Given the description of an element on the screen output the (x, y) to click on. 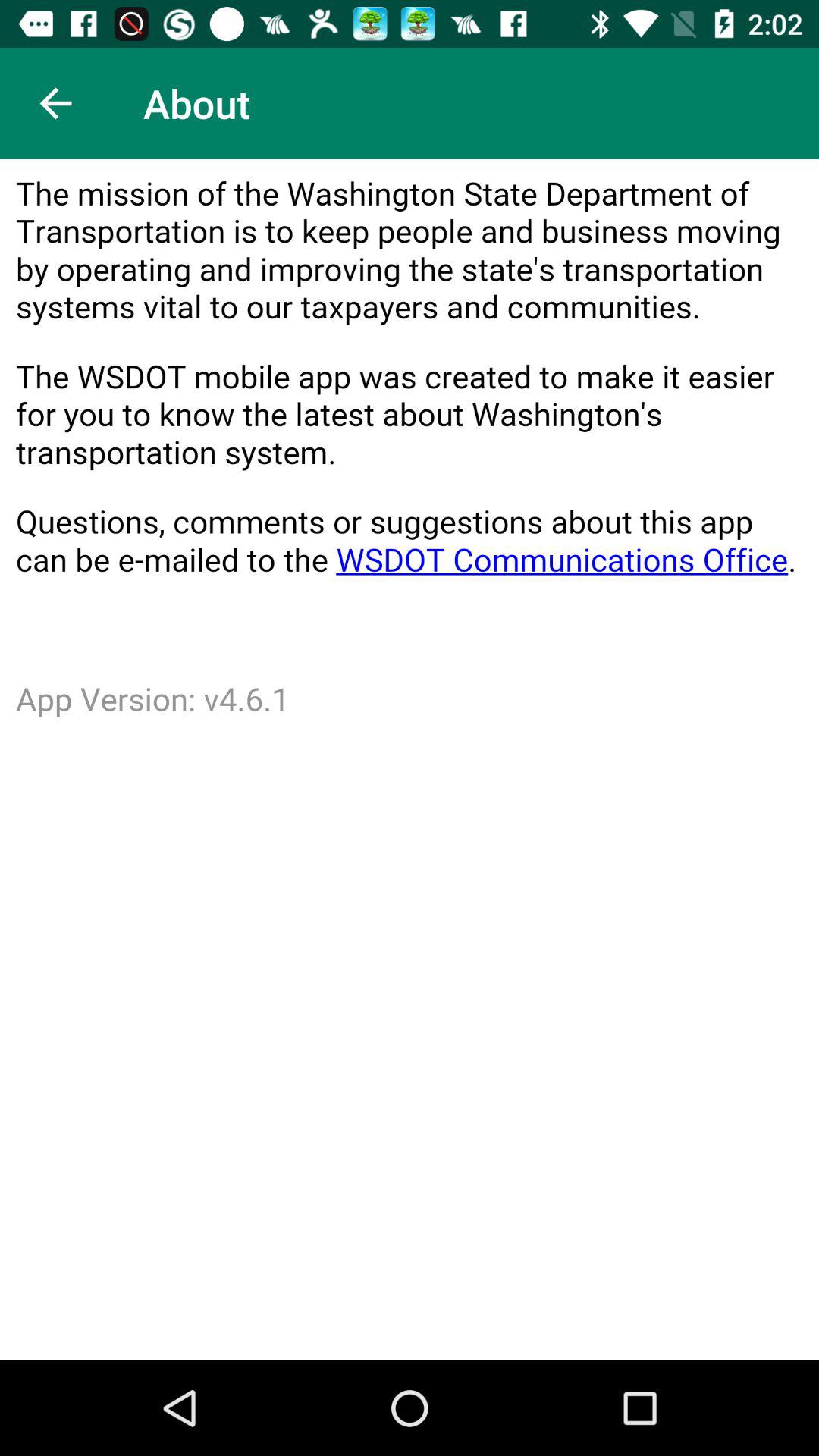
email hyperlink (409, 759)
